Given the description of an element on the screen output the (x, y) to click on. 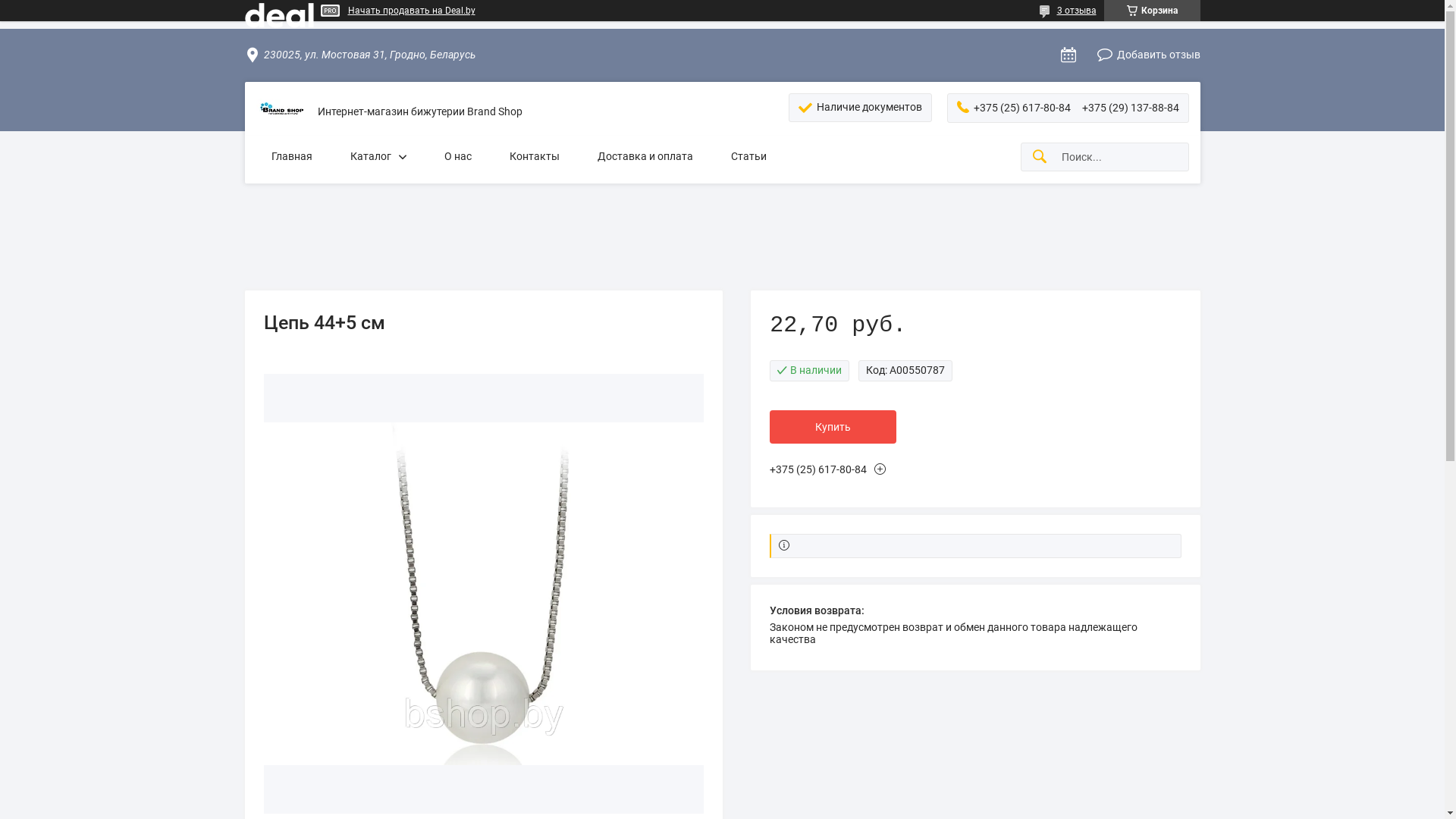
Brand Shop Element type: hover (281, 111)
